Given the description of an element on the screen output the (x, y) to click on. 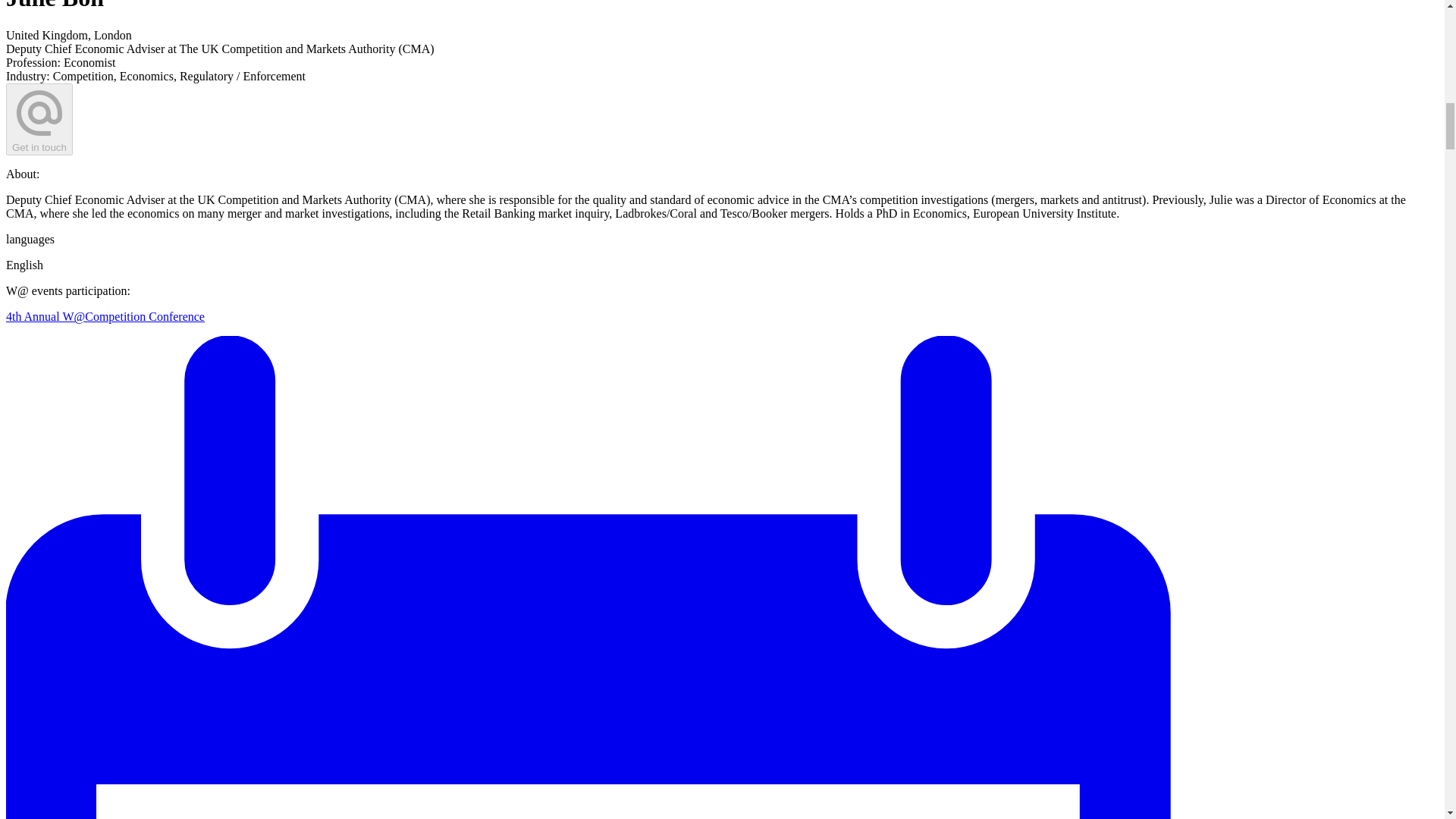
Get in touch (38, 119)
